Given the description of an element on the screen output the (x, y) to click on. 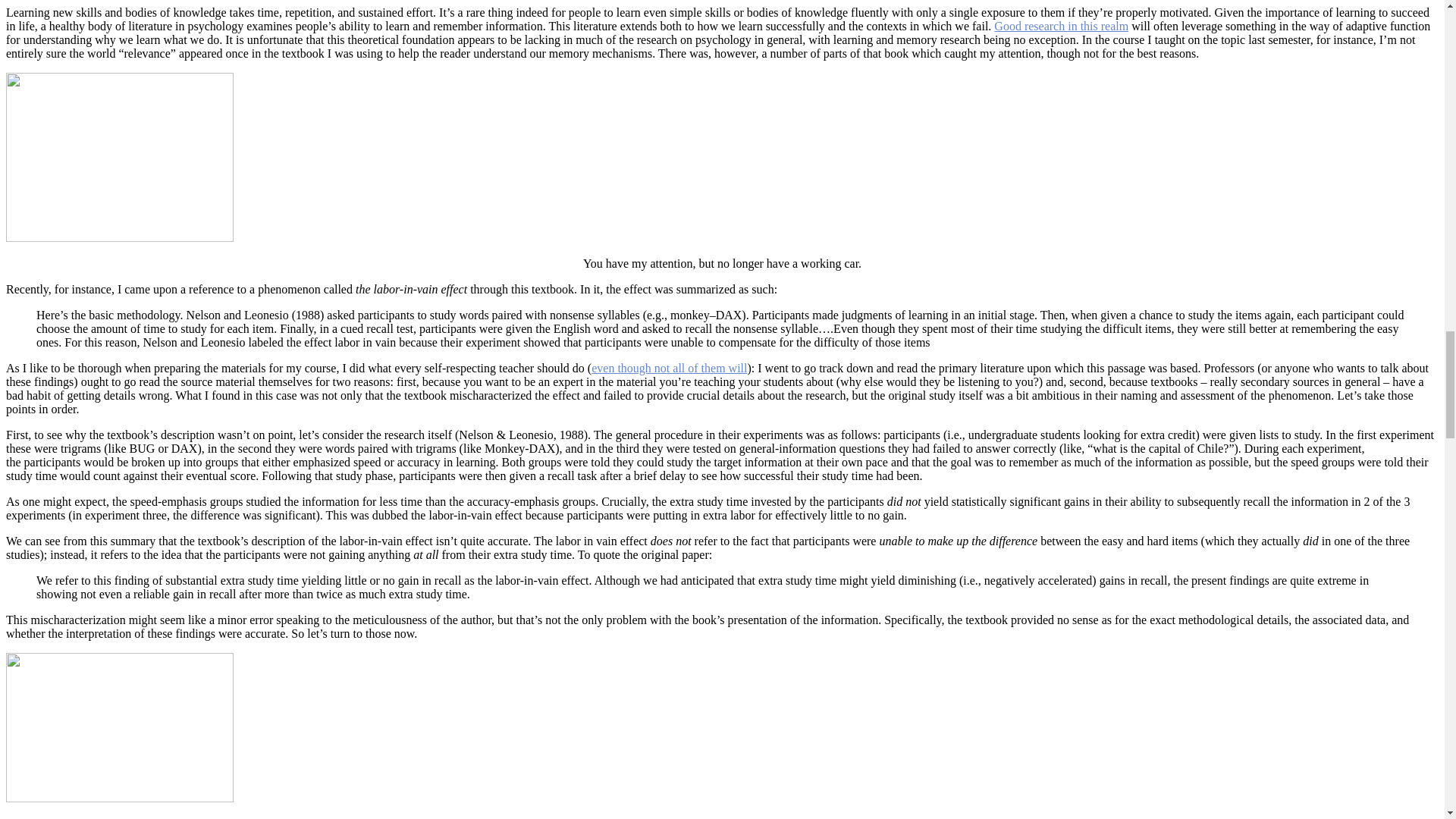
Good research in this realm (1061, 25)
even though not all of them will (668, 367)
